Given the description of an element on the screen output the (x, y) to click on. 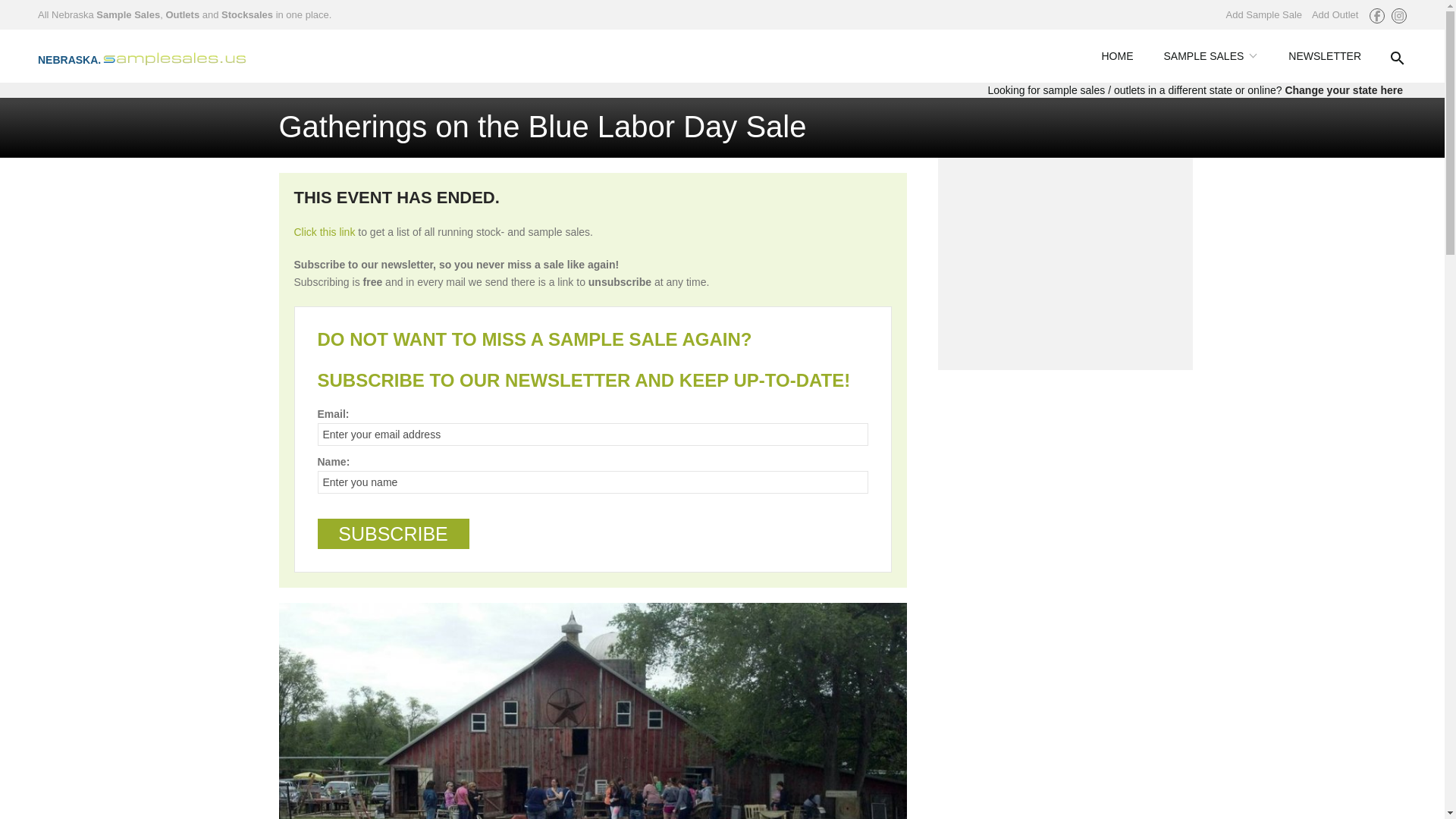
HOME (1117, 55)
Stocksales (247, 14)
Add Sample Sale (1263, 14)
Subscribe (392, 533)
SAMPLE SALES (1210, 55)
Enter your email address (592, 434)
Samplesales.us (153, 55)
Add Outlet (1334, 14)
Enter you name (592, 481)
Sample Sales (128, 14)
Outlets (182, 14)
NEBRASKA. (153, 55)
